Given the description of an element on the screen output the (x, y) to click on. 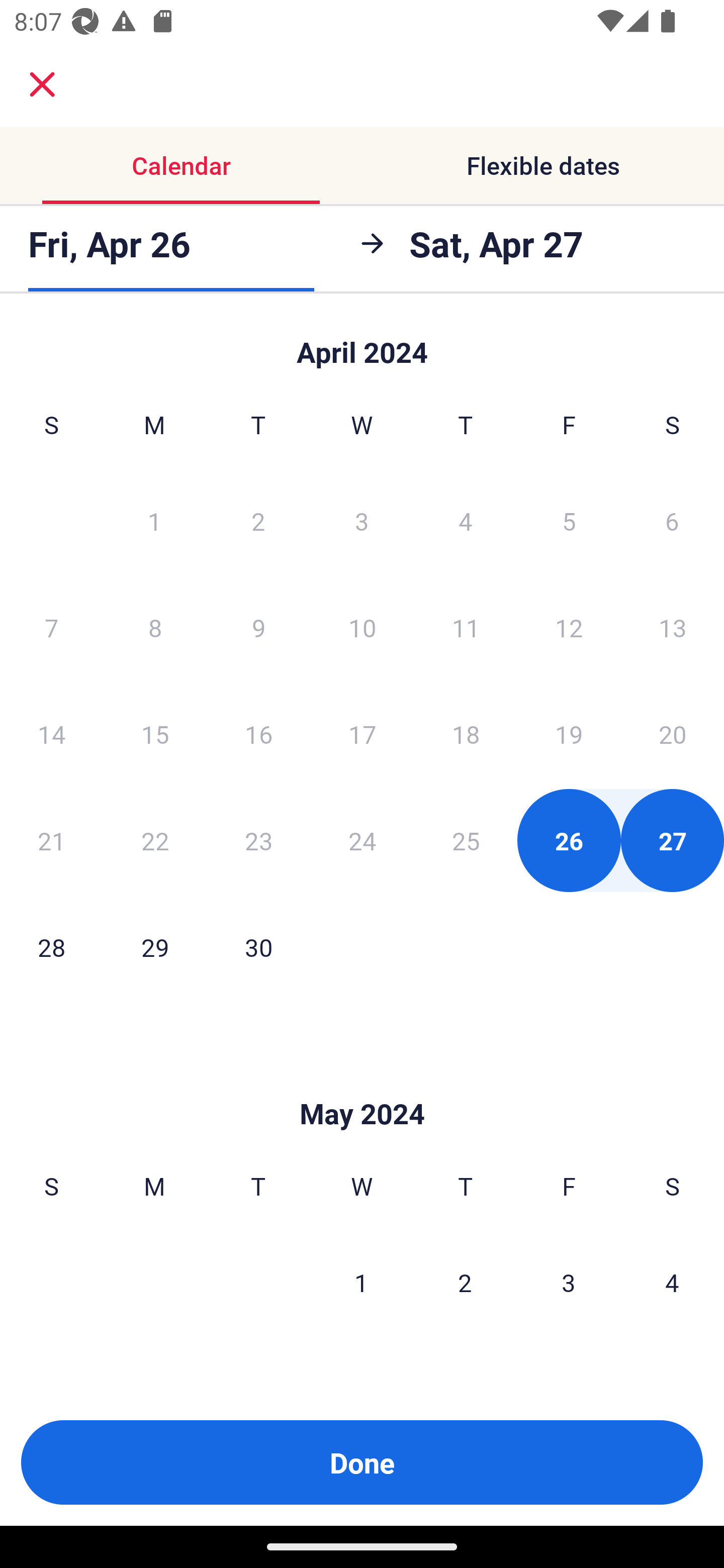
close. (42, 84)
Flexible dates (542, 164)
Skip to Done (362, 343)
1 Monday, April 1, 2024 (154, 520)
2 Tuesday, April 2, 2024 (257, 520)
3 Wednesday, April 3, 2024 (361, 520)
4 Thursday, April 4, 2024 (465, 520)
5 Friday, April 5, 2024 (568, 520)
6 Saturday, April 6, 2024 (672, 520)
7 Sunday, April 7, 2024 (51, 626)
8 Monday, April 8, 2024 (155, 626)
9 Tuesday, April 9, 2024 (258, 626)
10 Wednesday, April 10, 2024 (362, 626)
11 Thursday, April 11, 2024 (465, 626)
12 Friday, April 12, 2024 (569, 626)
13 Saturday, April 13, 2024 (672, 626)
14 Sunday, April 14, 2024 (51, 733)
15 Monday, April 15, 2024 (155, 733)
16 Tuesday, April 16, 2024 (258, 733)
17 Wednesday, April 17, 2024 (362, 733)
